Given the description of an element on the screen output the (x, y) to click on. 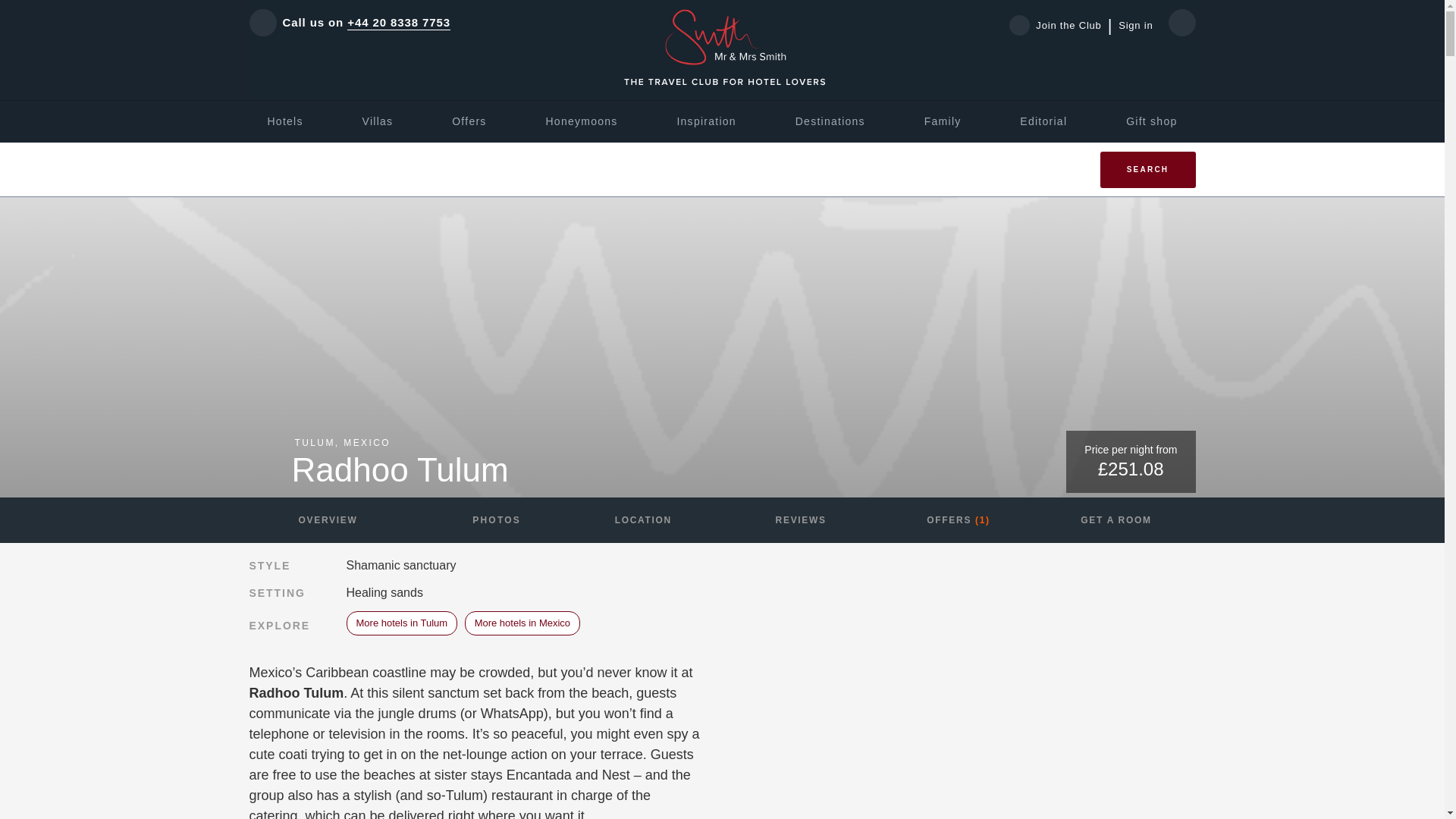
Join the Club (1060, 25)
LOCATION (642, 520)
Editorial (1043, 121)
MEXICO (366, 442)
Hotels (284, 121)
REVIEWS (801, 520)
Destinations (829, 121)
Family (942, 121)
Villas (377, 121)
Gift shop (1150, 121)
